Given the description of an element on the screen output the (x, y) to click on. 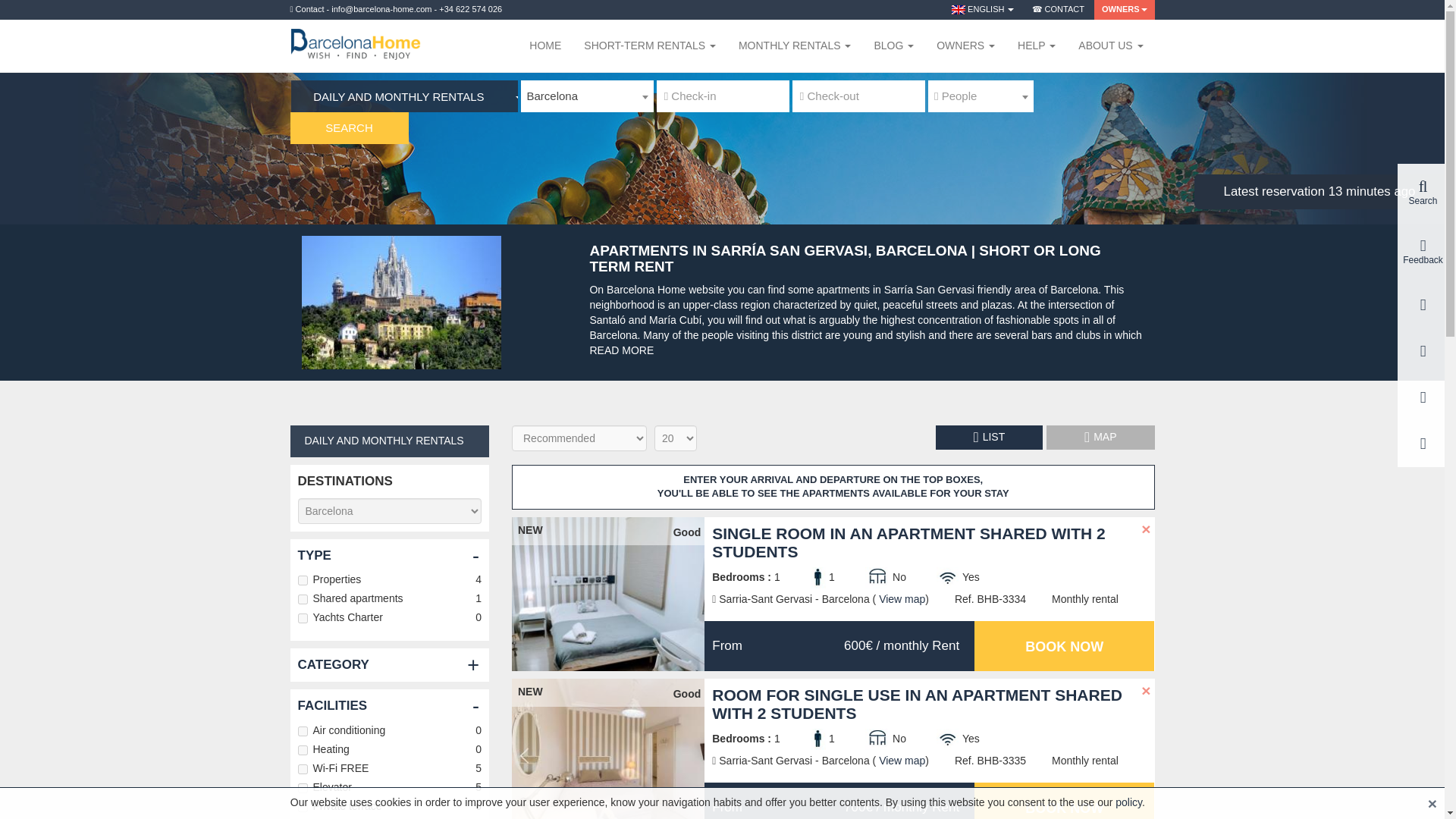
HOME (545, 45)
1 (302, 750)
SHORT-TERM RENTALS (649, 45)
1 (302, 731)
1 (302, 787)
MONTHLY RENTALS (793, 45)
OWNERS (1124, 9)
policy (1128, 802)
Single room in an apartment shared with 2 students (608, 593)
1 (302, 807)
BLOG (892, 45)
 ENGLISH  (982, 9)
 Room for single use in an apartment shared with 2 students  (608, 748)
OWNERS (965, 45)
1 (302, 599)
